Given the description of an element on the screen output the (x, y) to click on. 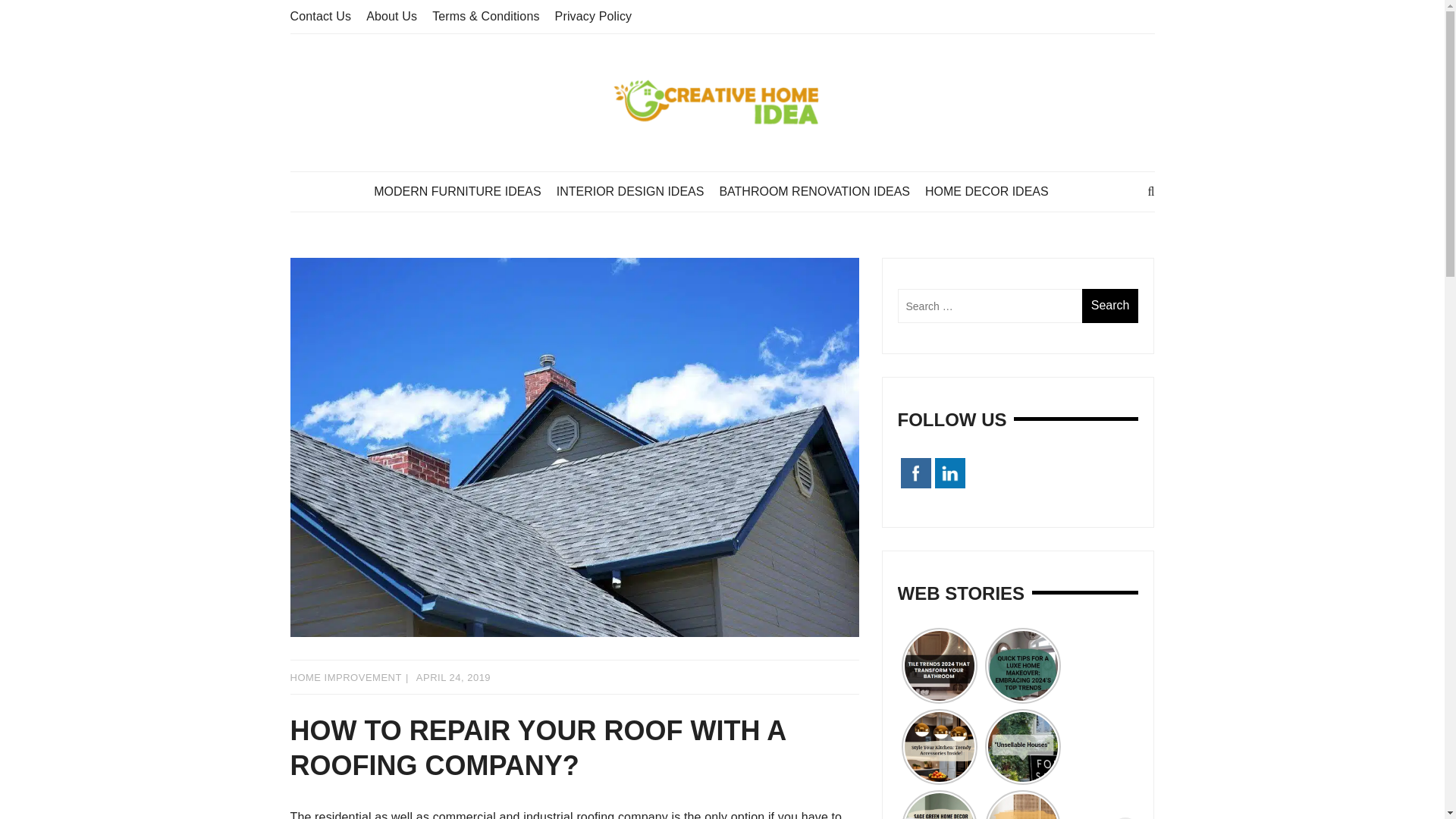
LinkedIn (948, 472)
Search (1109, 305)
Facebook (916, 472)
HOME DECOR IDEAS (994, 191)
Search (1109, 305)
HOME IMPROVEMENT (345, 677)
MODERN FURNITURE IDEAS (465, 191)
Contact Us (319, 16)
INTERIOR DESIGN IDEAS (637, 191)
Search (1109, 305)
